Given the description of an element on the screen output the (x, y) to click on. 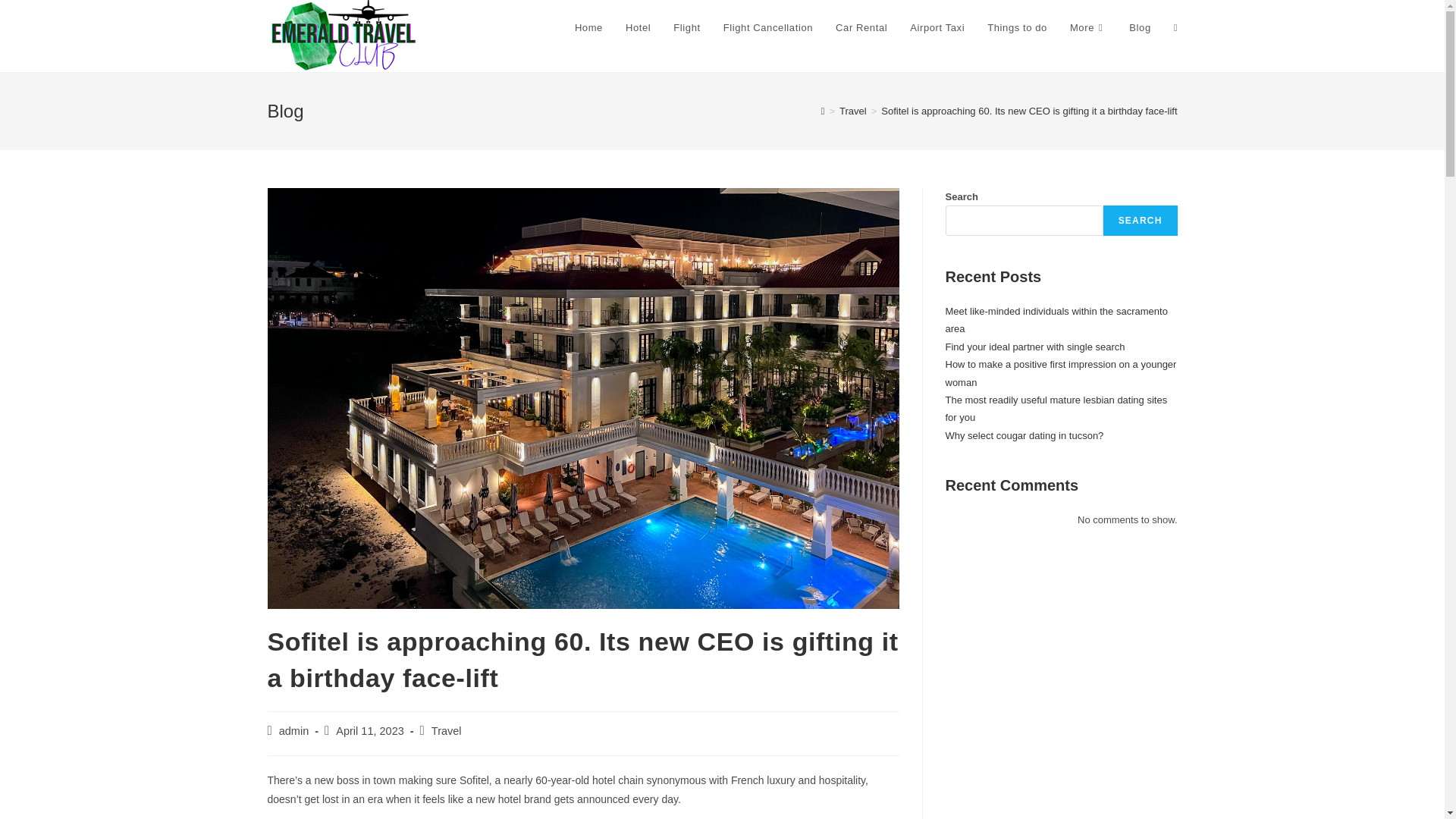
More (1088, 28)
Flight Cancellation (767, 28)
admin (293, 730)
Car Rental (861, 28)
Airport Taxi (936, 28)
Posts by admin (293, 730)
Things to do (1016, 28)
Travel (853, 111)
Home (588, 28)
